Given the description of an element on the screen output the (x, y) to click on. 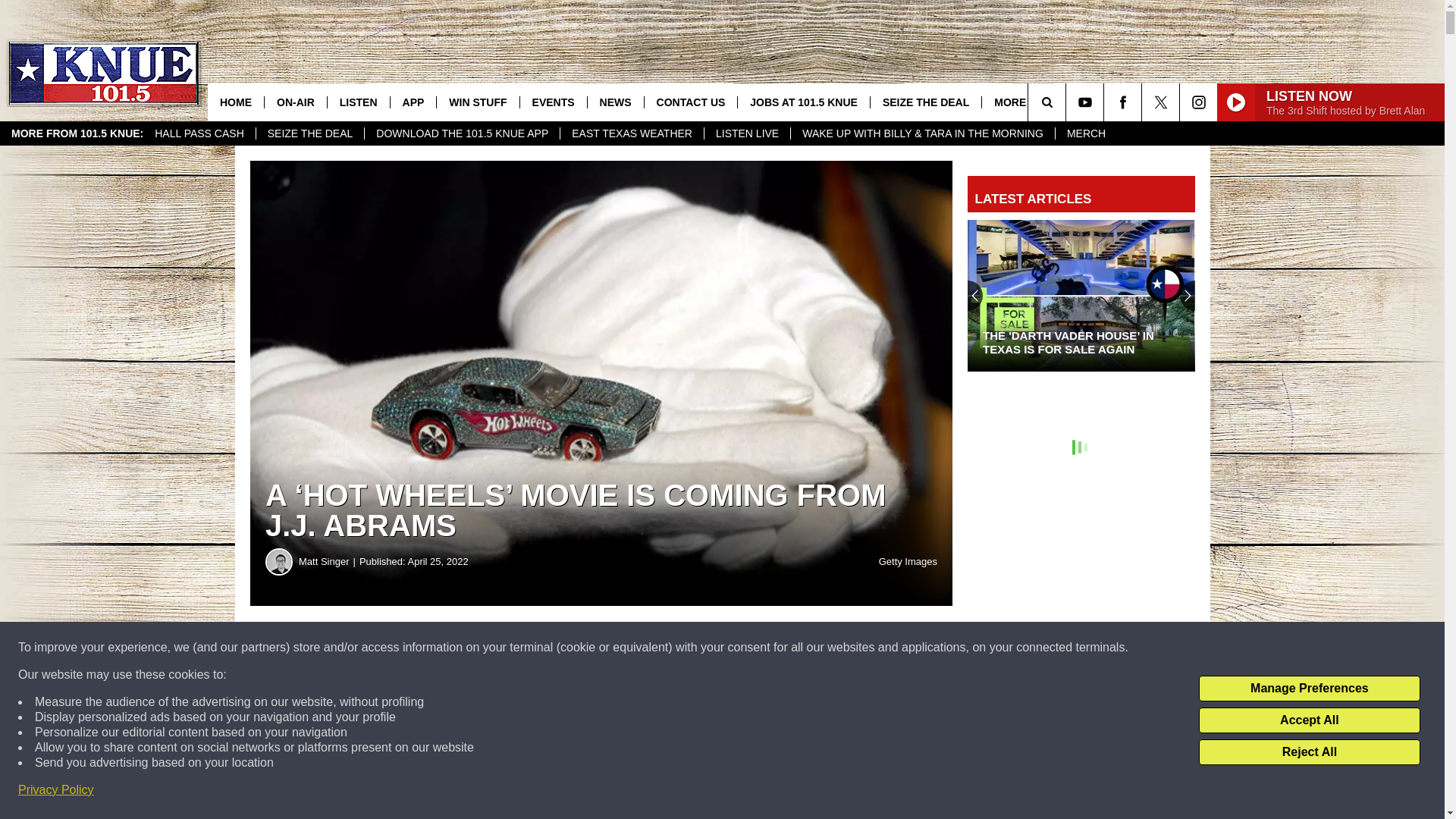
HOME (235, 102)
SEARCH (1068, 102)
ON-AIR (294, 102)
EAST TEXAS WEATHER (631, 133)
LISTEN (358, 102)
DOWNLOAD THE 101.5 KNUE APP (461, 133)
HALL PASS CASH (199, 133)
Manage Preferences (1309, 688)
SEIZE THE DEAL (310, 133)
Privacy Policy (55, 789)
